Given the description of an element on the screen output the (x, y) to click on. 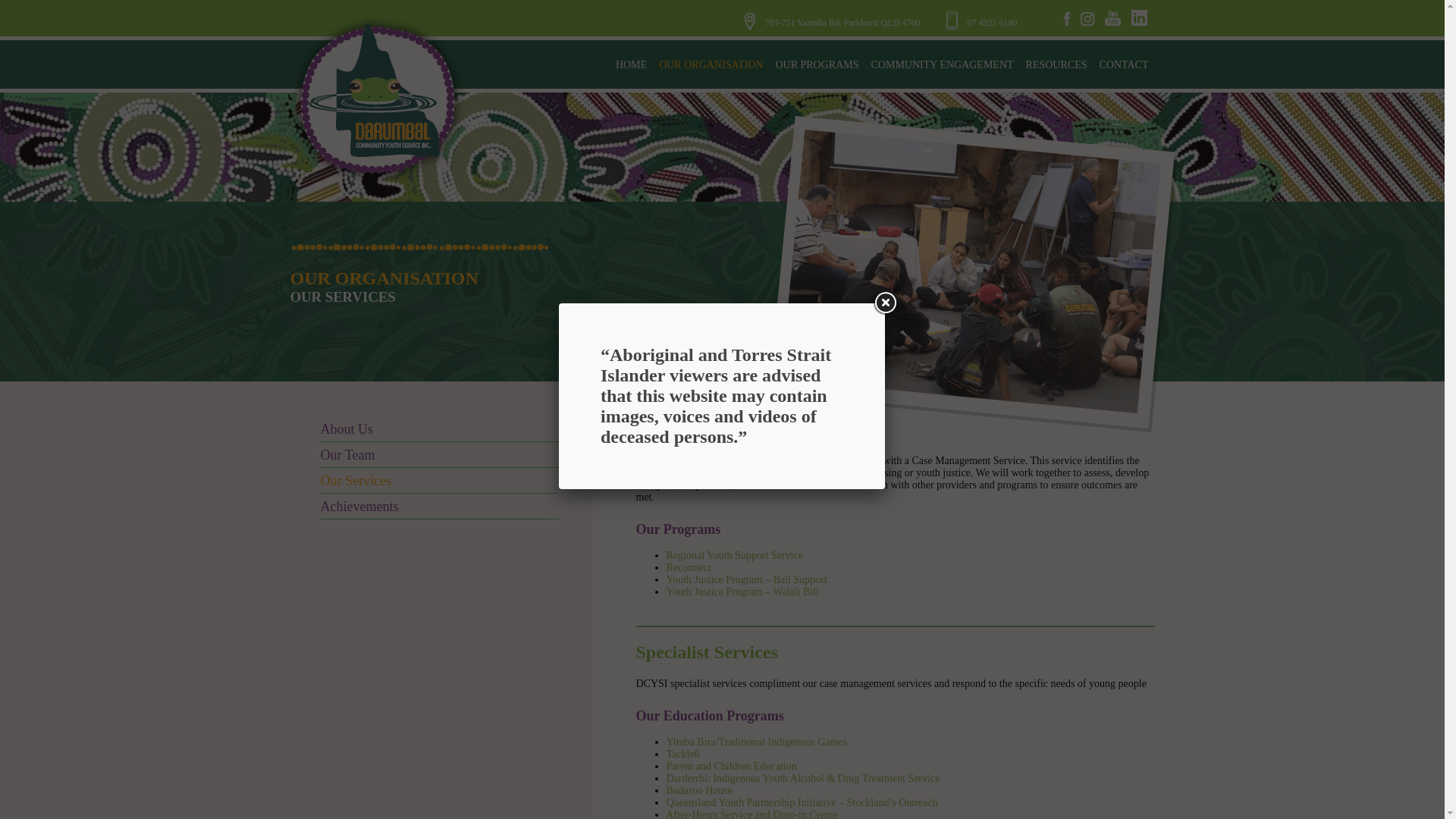
07 4922 6180 (981, 22)
OUR ORGANISATION (710, 64)
RESOURCES (1056, 64)
HOME (631, 64)
CONTACT (1123, 64)
OUR PROGRAMS (816, 64)
703-751 Yaamba Rd, Parkhurst QLD 4700 (842, 22)
Close (884, 302)
COMMUNITY ENGAGEMENT (941, 64)
